Given the description of an element on the screen output the (x, y) to click on. 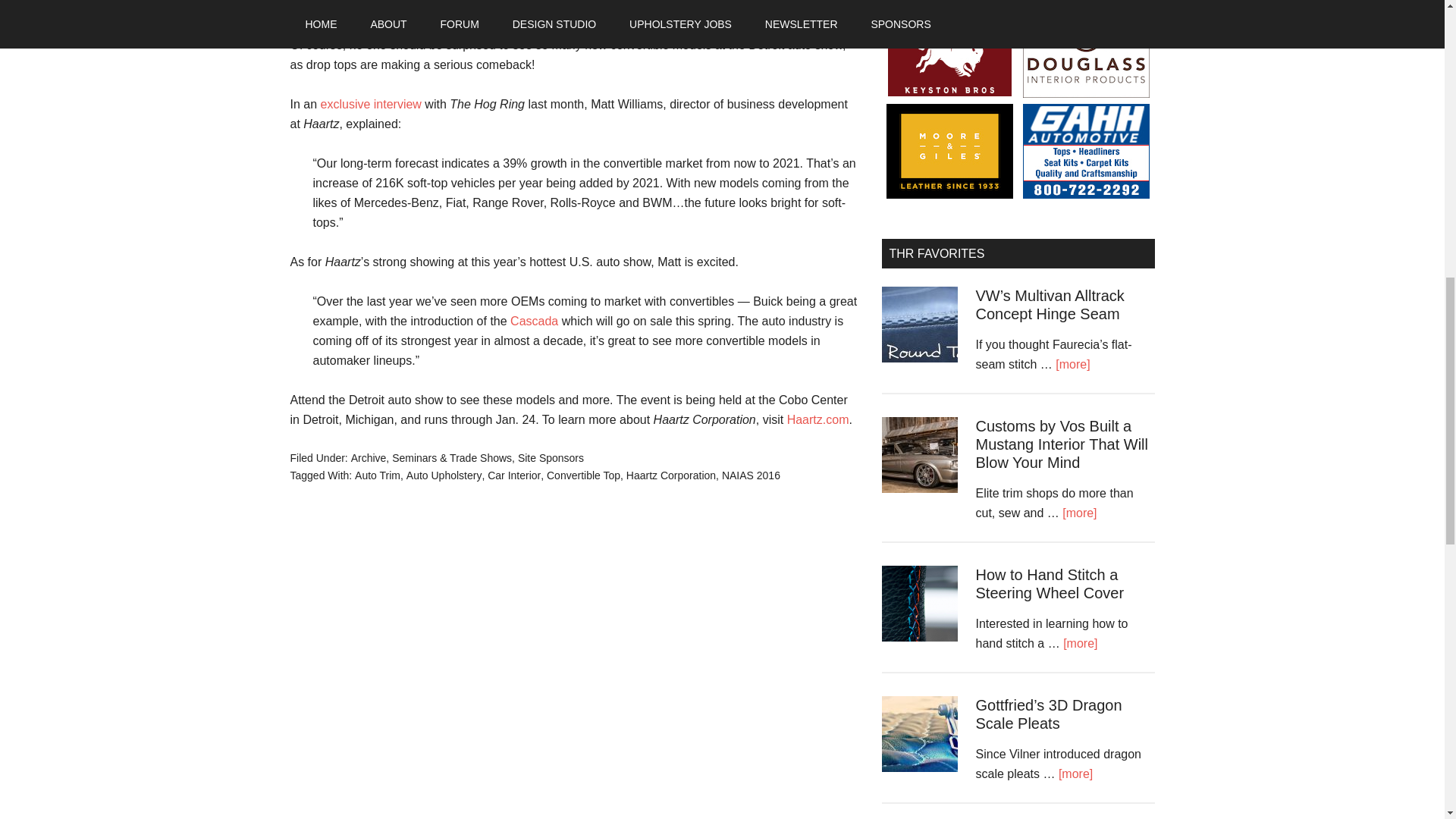
Auto Upholstery (443, 474)
NAIAS 2016 (751, 474)
Haartz Corporation (671, 474)
exclusive interview (371, 103)
Haartz.com (817, 419)
Car Interior (513, 474)
Archive (368, 458)
Auto Trim (377, 474)
Site Sponsors (550, 458)
Convertible Top (583, 474)
Cascada (534, 320)
